Given the description of an element on the screen output the (x, y) to click on. 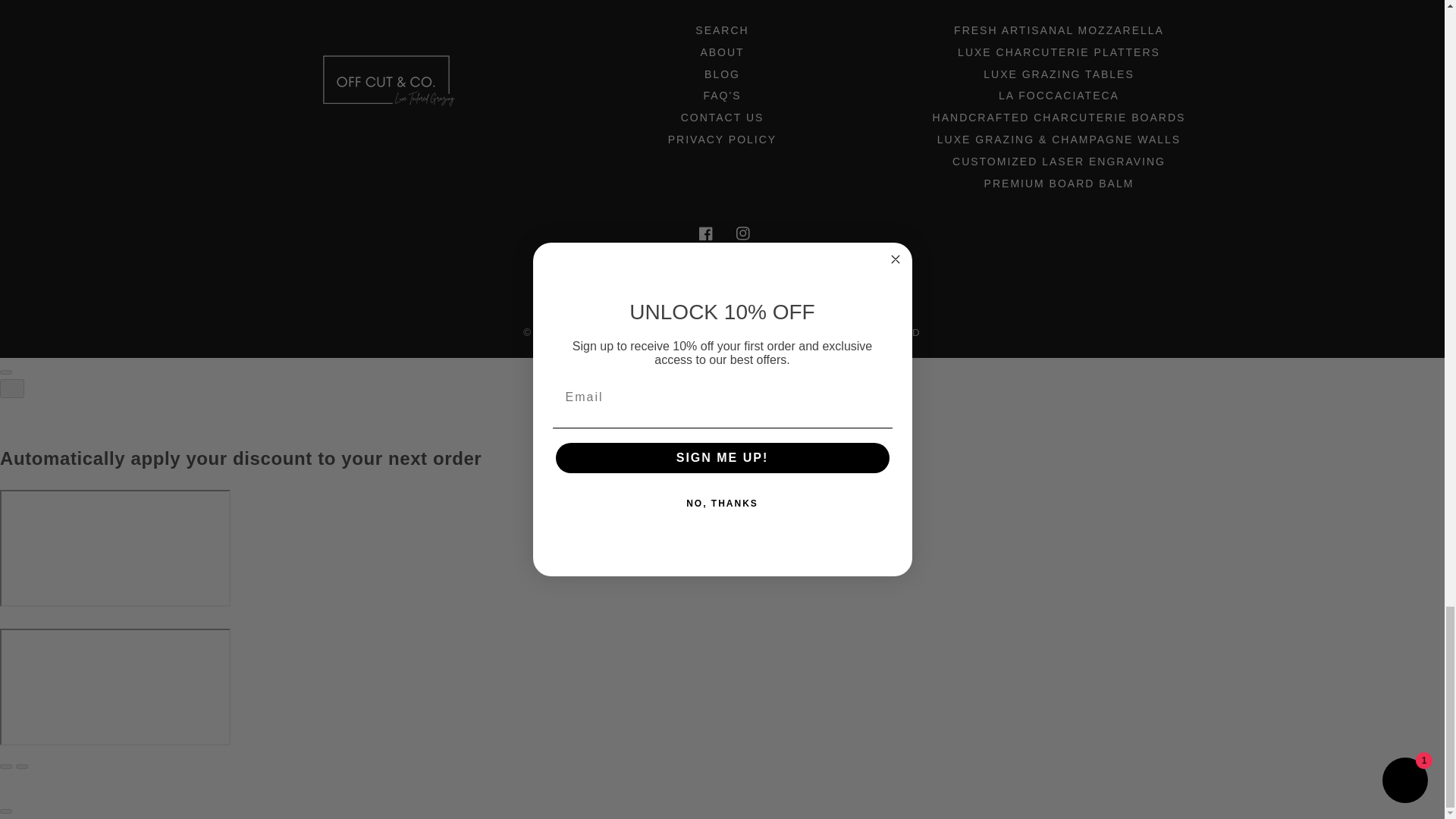
FAQ'S (722, 95)
BLOG (721, 74)
PRIVACY POLICY (722, 139)
SEARCH (721, 32)
ABOUT (722, 52)
CONTACT US (722, 117)
